Given the description of an element on the screen output the (x, y) to click on. 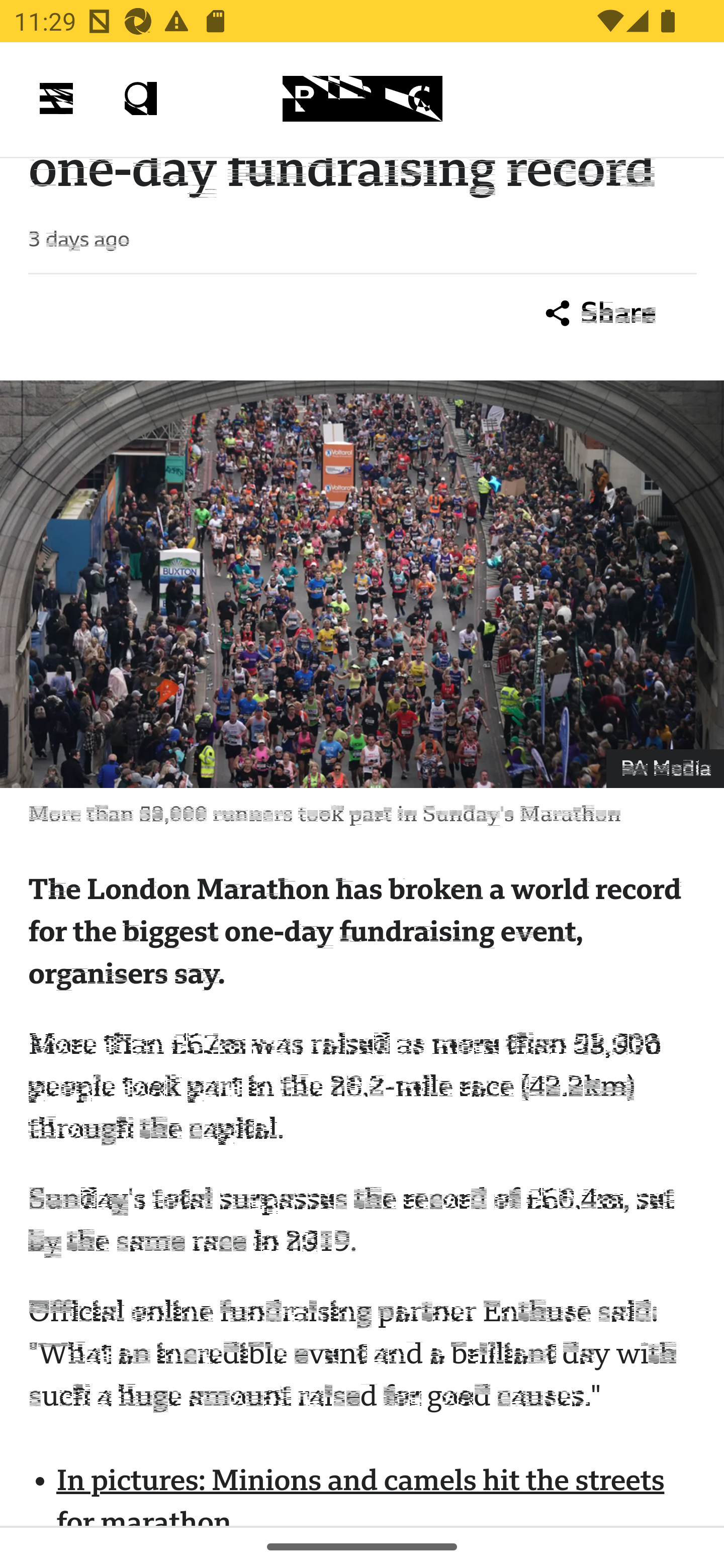
www.bbc (362, 99)
Share (601, 315)
